Given the description of an element on the screen output the (x, y) to click on. 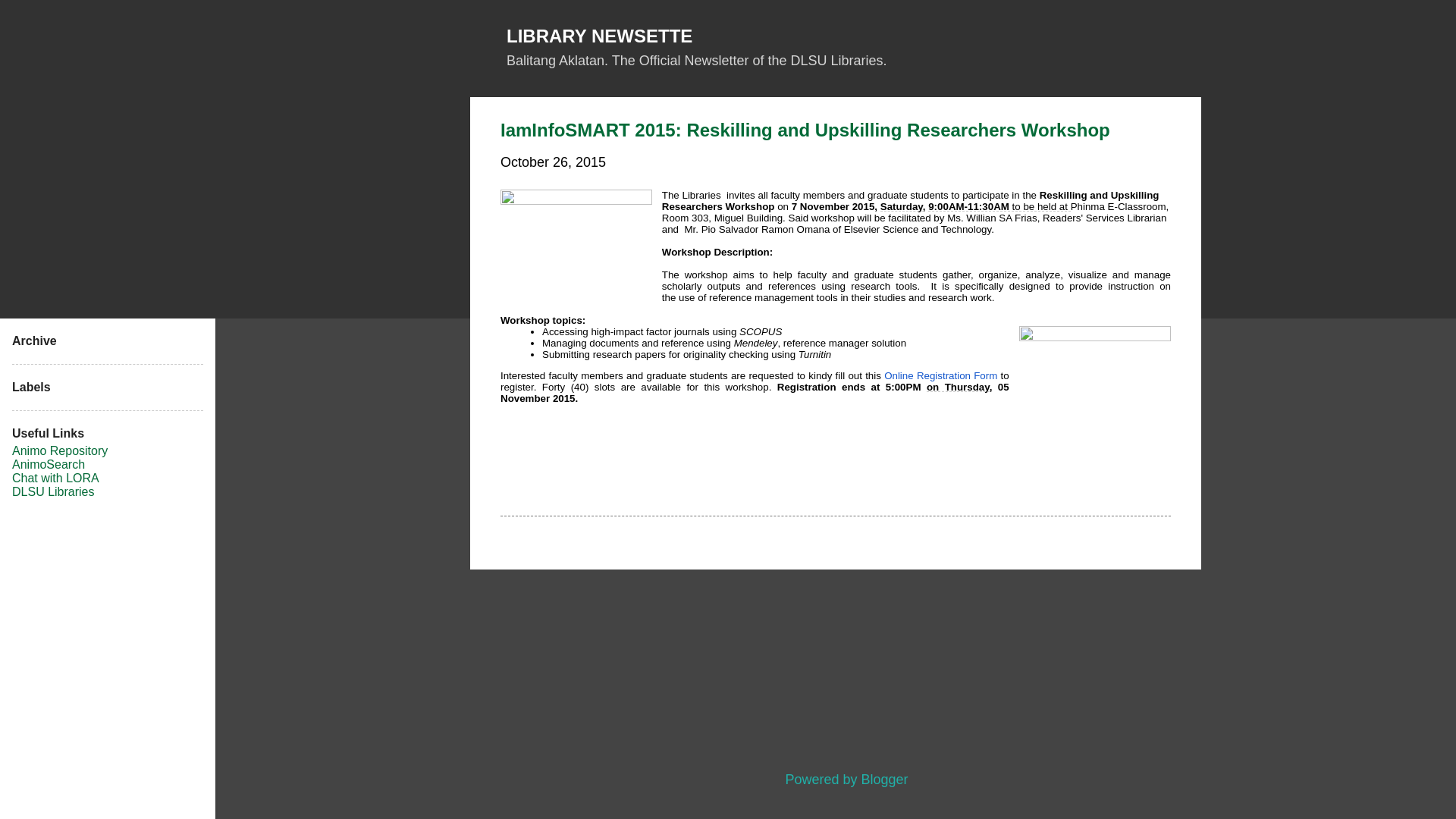
Powered by Blogger (834, 779)
LIBRARY NEWSETTE (599, 35)
Search (34, 18)
permanent link (552, 161)
Online Registration Form (940, 375)
October 26, 2015 (552, 161)
